Given the description of an element on the screen output the (x, y) to click on. 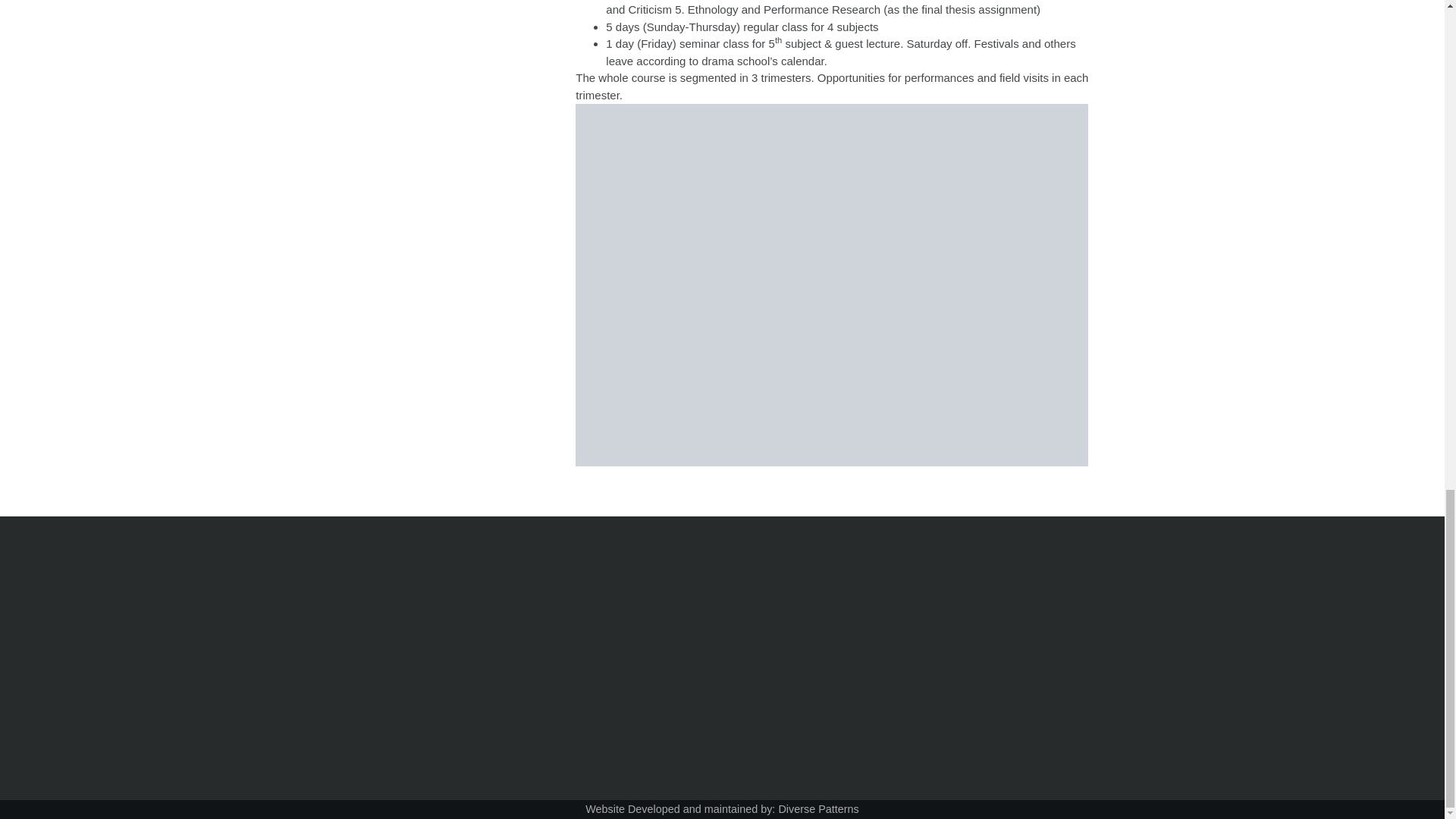
Diverse Patterns (818, 808)
